Given the description of an element on the screen output the (x, y) to click on. 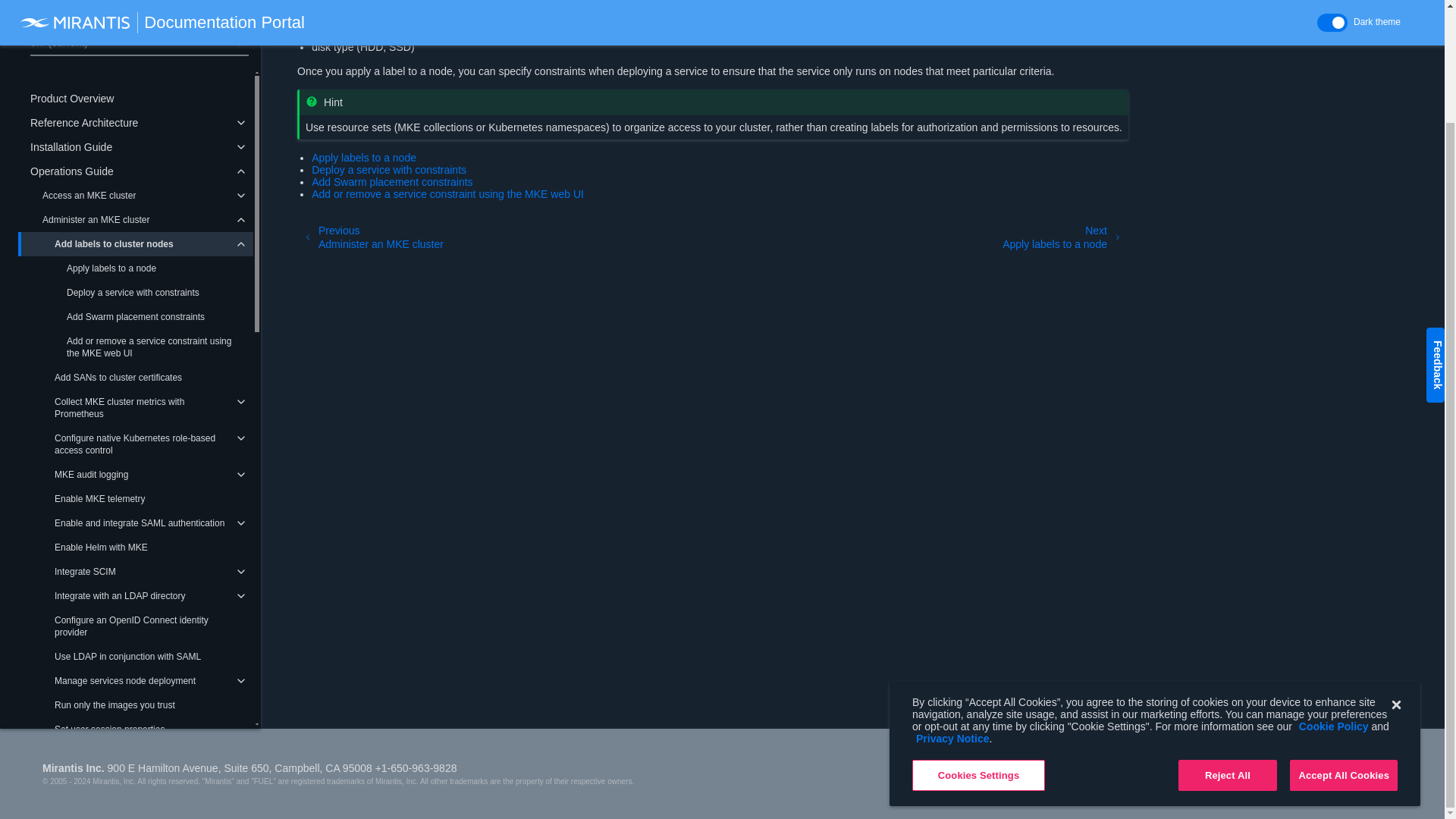
Product Overview (135, 98)
Reference Architecture (135, 122)
Installation Guide (135, 146)
